Given the description of an element on the screen output the (x, y) to click on. 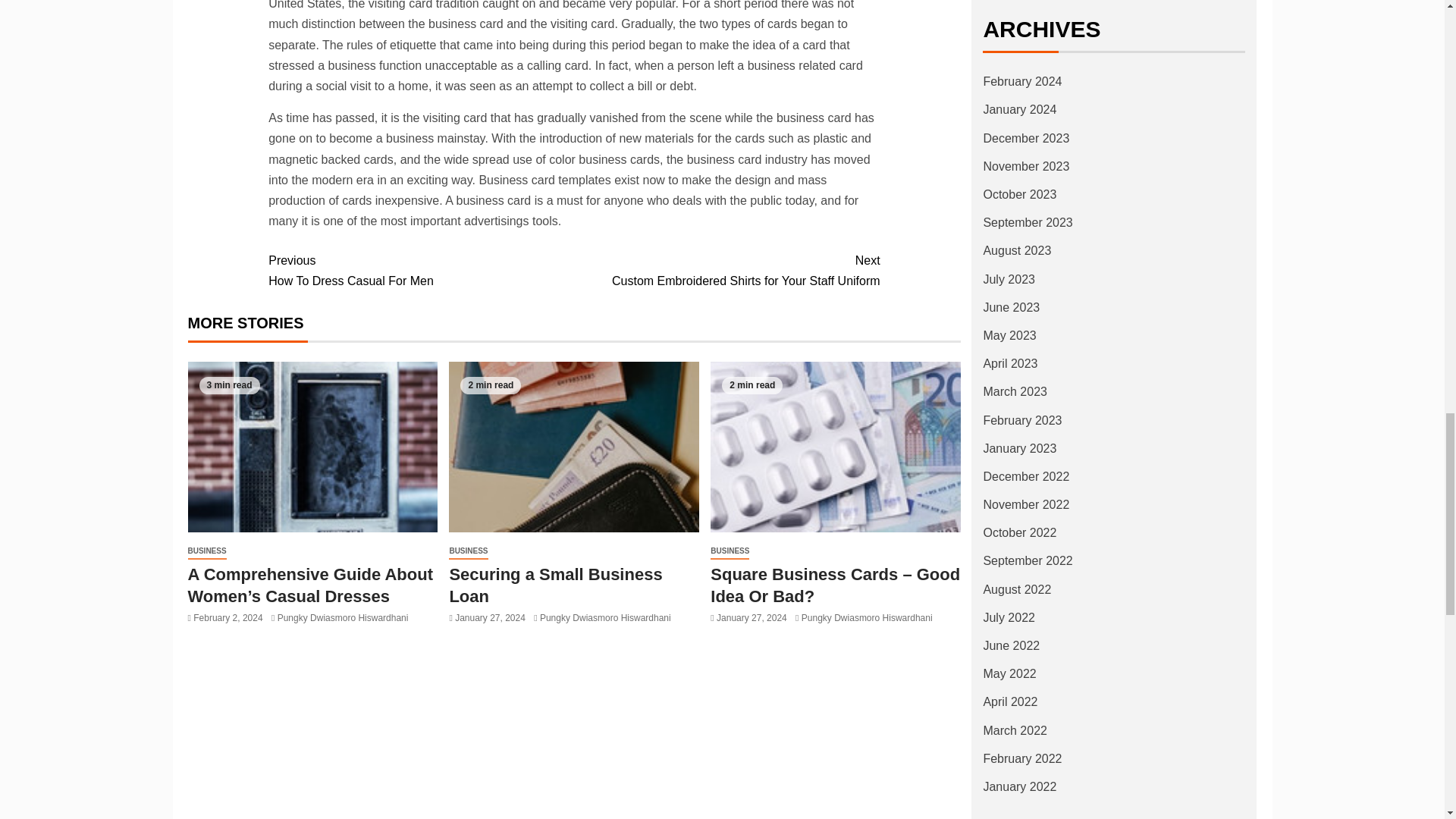
BUSINESS (420, 270)
Securing a Small Business Loan (726, 270)
